Given the description of an element on the screen output the (x, y) to click on. 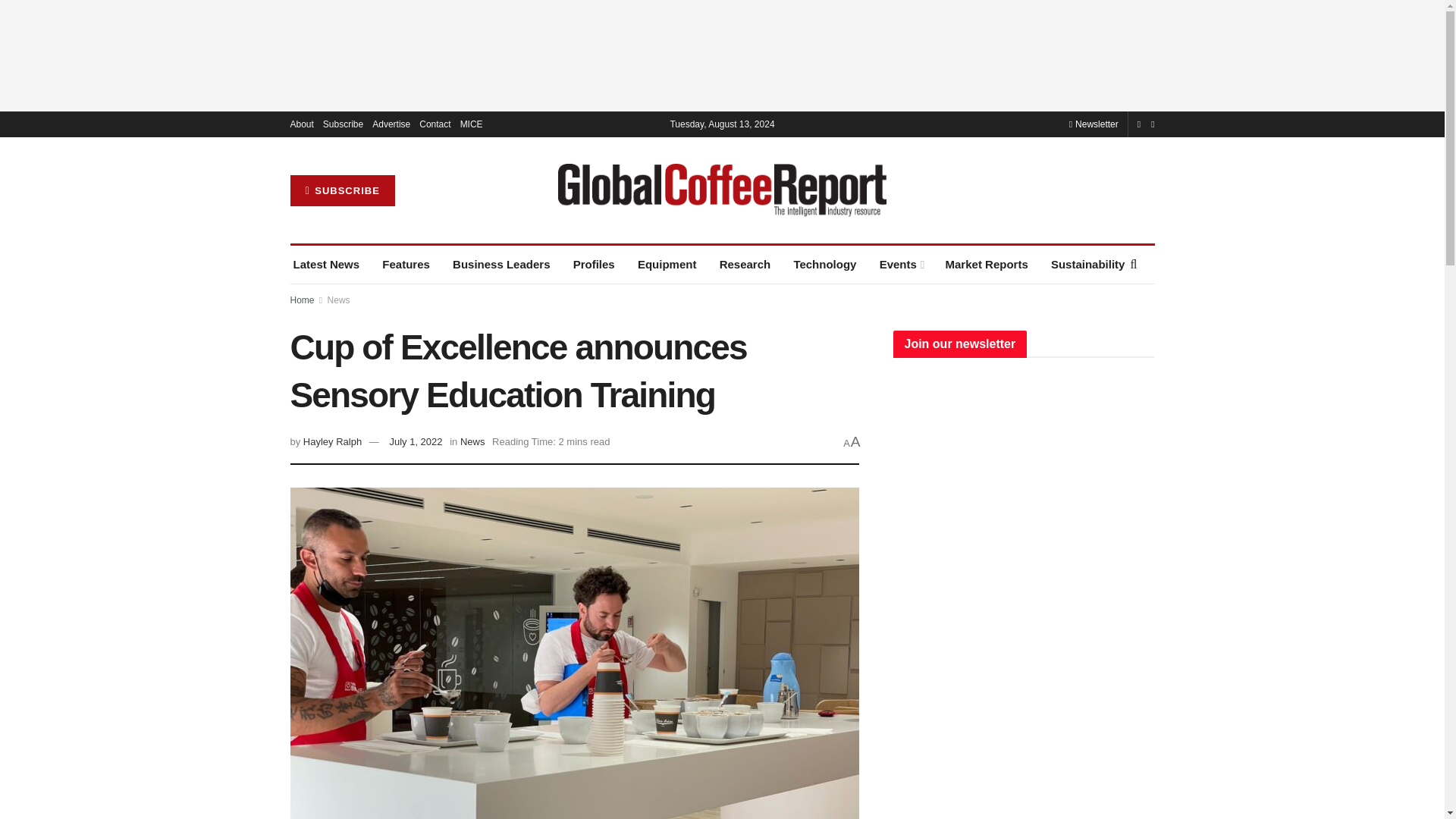
Features (405, 264)
Sustainability (1088, 264)
Subscribe (342, 124)
SUBSCRIBE (341, 190)
Market Reports (986, 264)
Business Leaders (501, 264)
Latest News (325, 264)
Technology (824, 264)
Equipment (667, 264)
Research (745, 264)
